Given the description of an element on the screen output the (x, y) to click on. 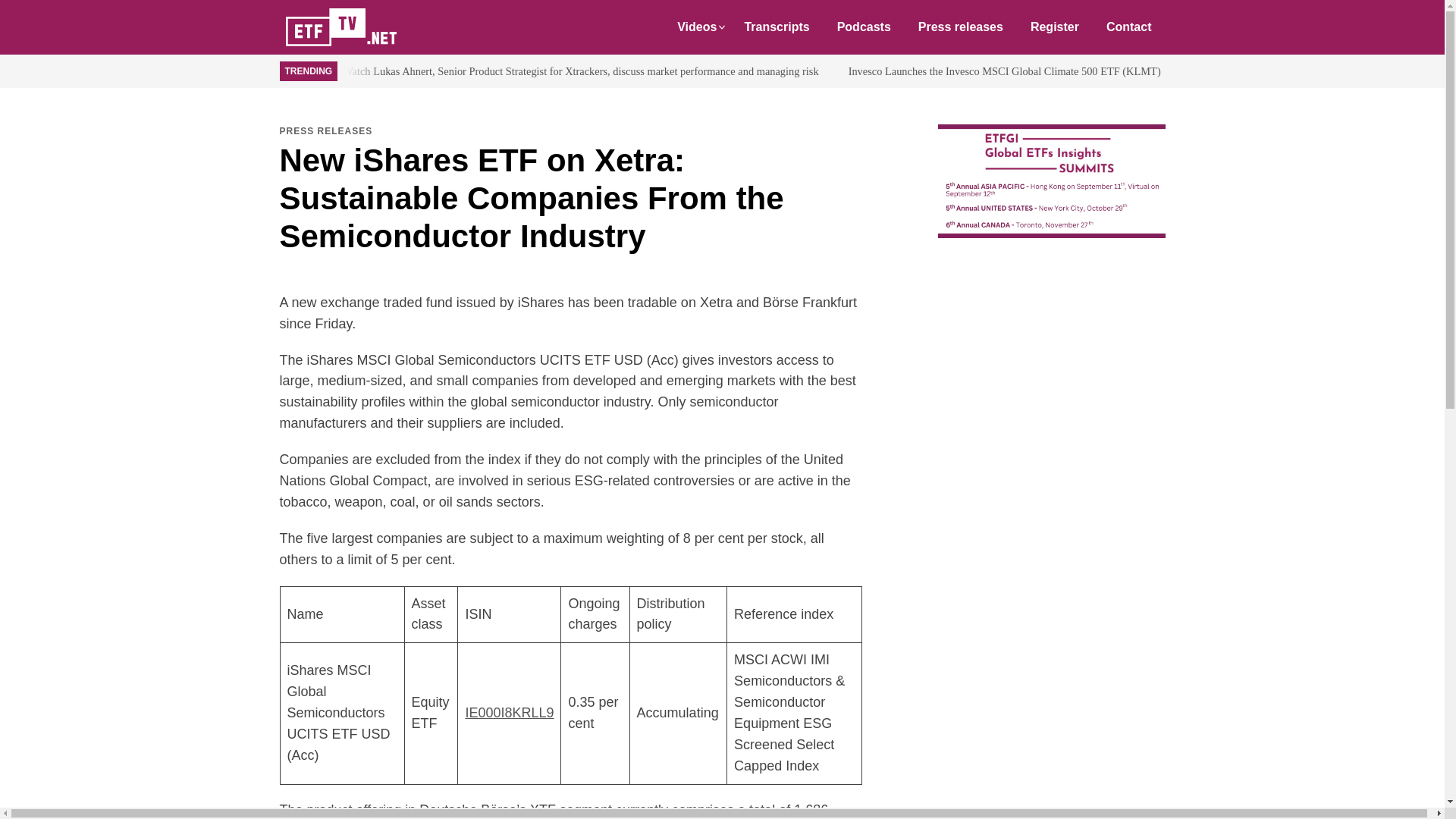
Podcasts (864, 27)
Press releases (960, 27)
Videos (696, 27)
ETF TV (355, 26)
Transcripts (776, 27)
IE000I8KRLL9 (508, 712)
Contact (1129, 27)
PRESS RELEASES (325, 131)
Register (1054, 27)
